Given the description of an element on the screen output the (x, y) to click on. 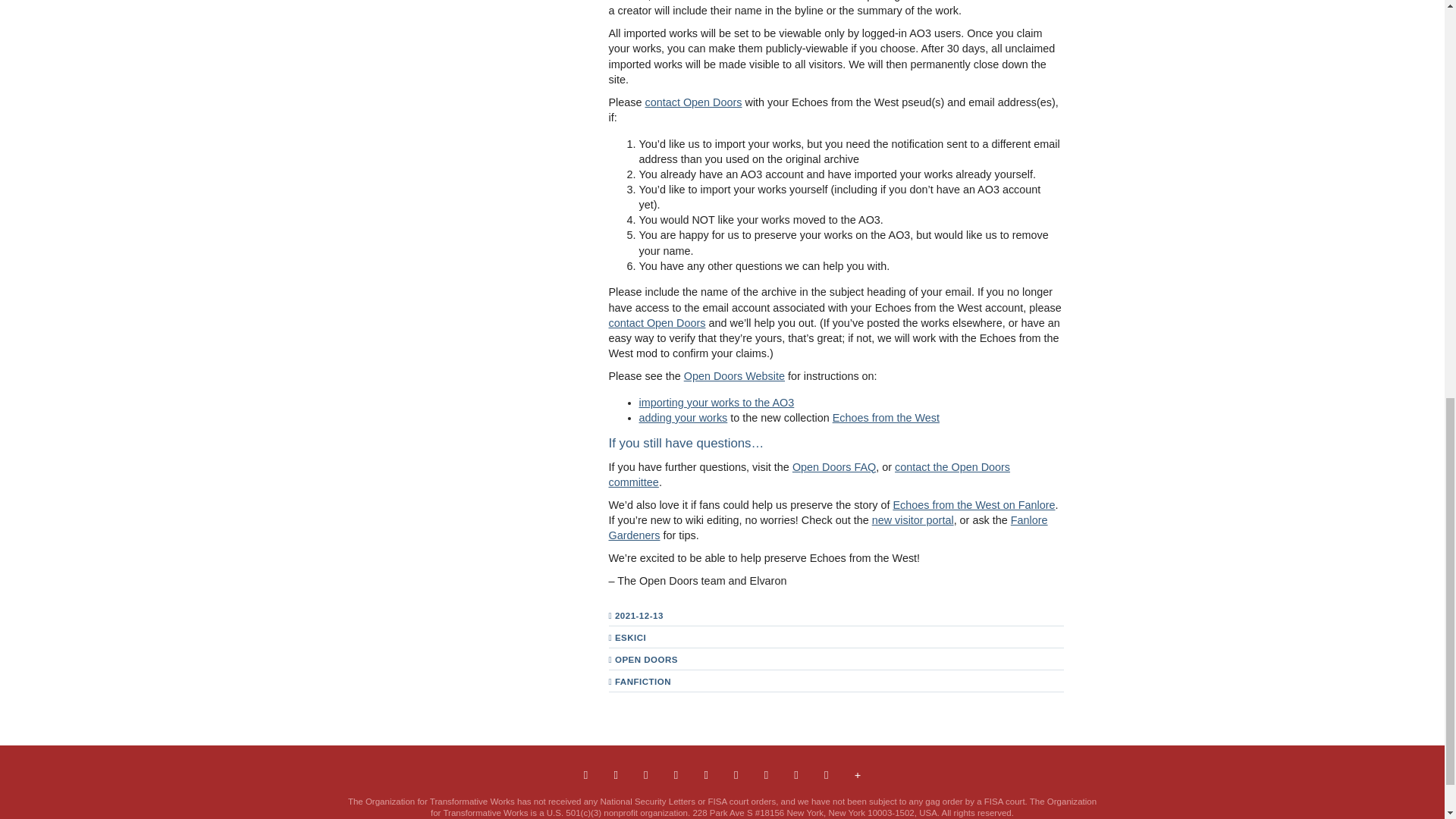
Youtube (766, 774)
Linkedin (704, 774)
RSS (825, 774)
Facebook (614, 774)
Contact Us (585, 774)
Github (795, 774)
Tumblr (675, 774)
Vimeo (735, 774)
Twitter (645, 774)
More (858, 774)
18:07 (642, 614)
View all posts by Eskici (630, 637)
